Given the description of an element on the screen output the (x, y) to click on. 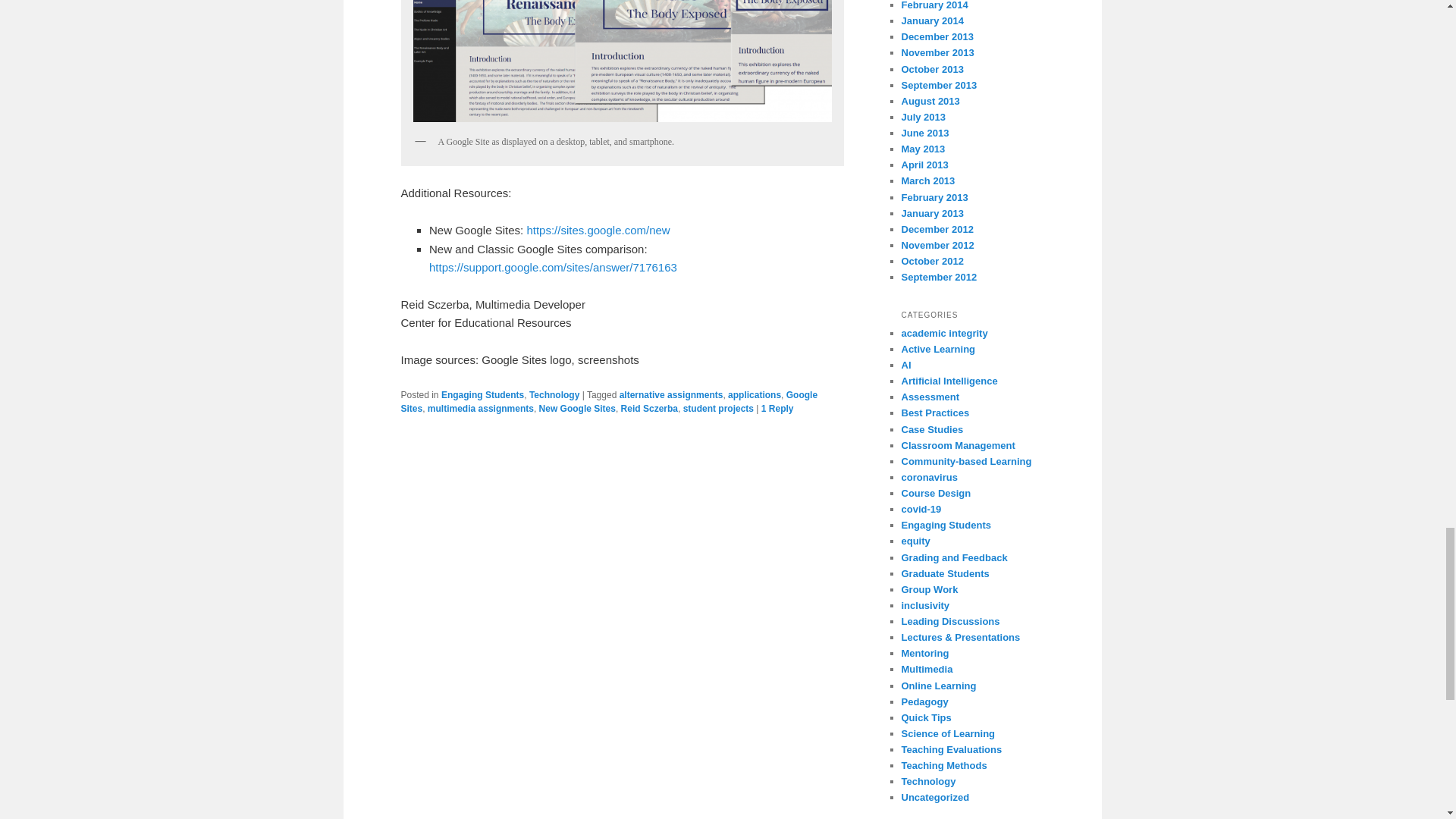
multimedia assignments (481, 408)
Engaging Students (482, 394)
student projects (718, 408)
applications (754, 394)
alternative assignments (671, 394)
Technology (554, 394)
Reid Sczerba (649, 408)
New Google Sites (576, 408)
1 Reply (777, 408)
Google Sites (608, 401)
